Given the description of an element on the screen output the (x, y) to click on. 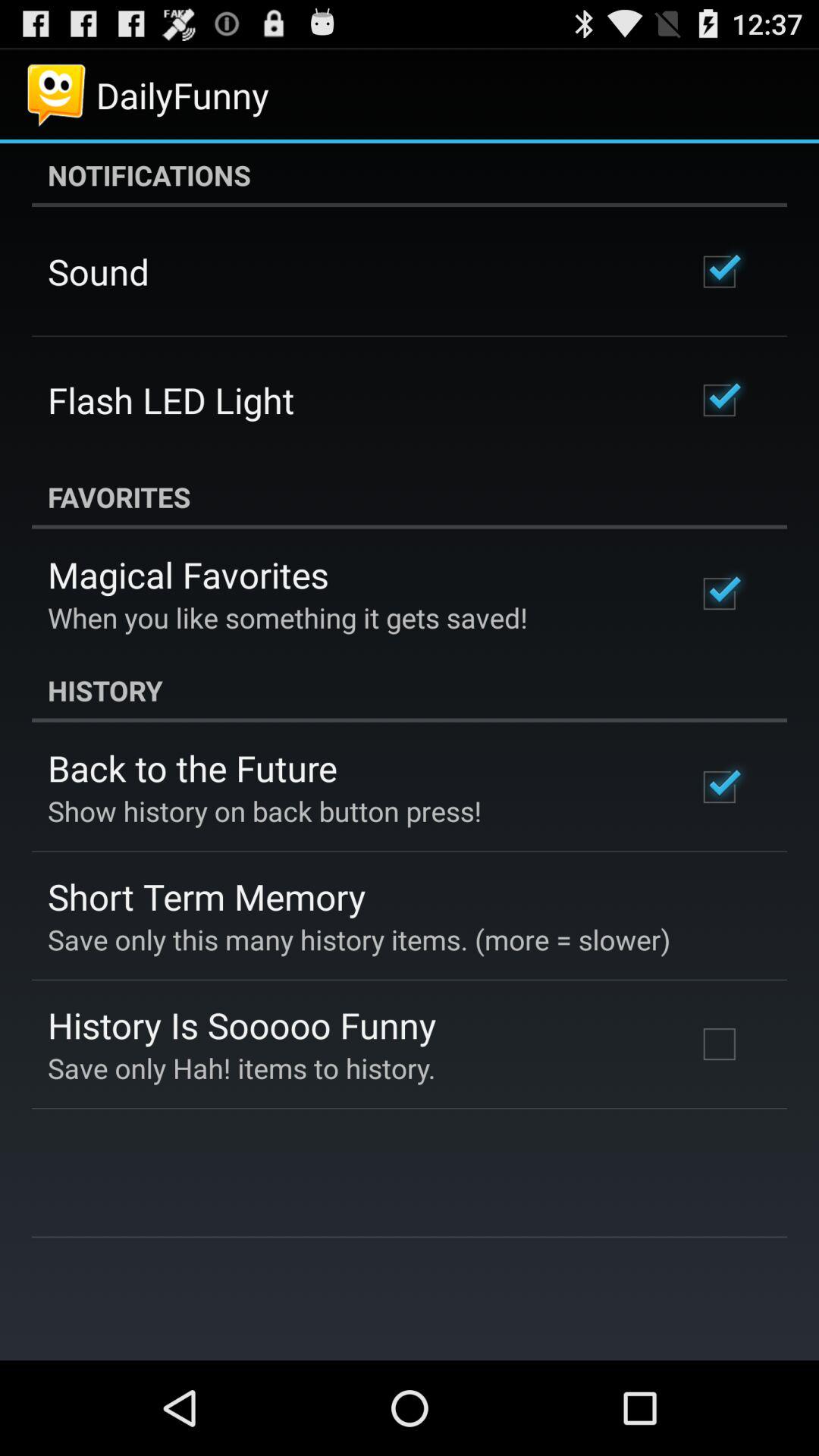
tap app above the save only hah app (241, 1025)
